Given the description of an element on the screen output the (x, y) to click on. 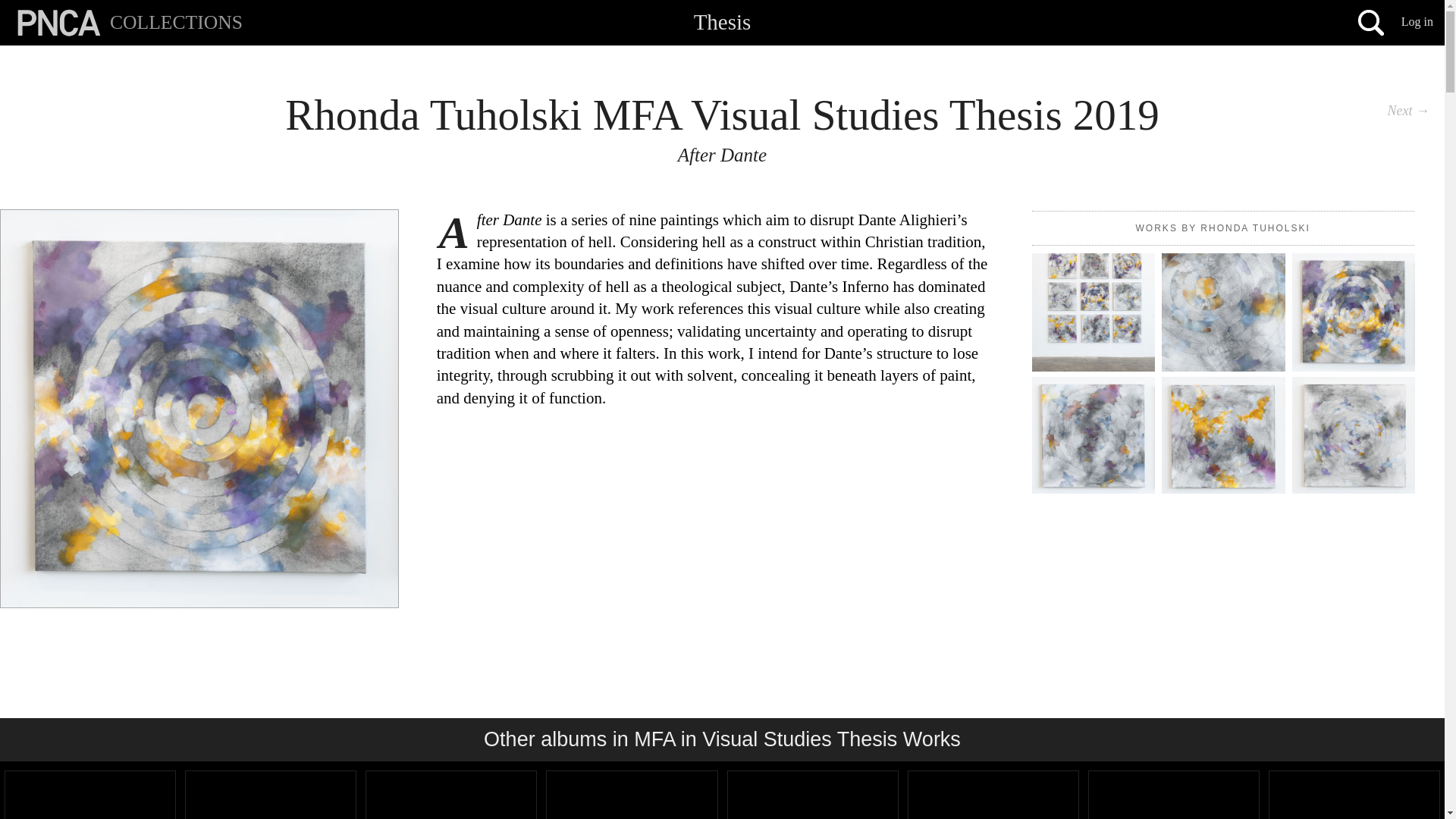
WORKS BY RHONDA TUHOLSKI (1223, 227)
Thesis (722, 21)
Log in (1416, 21)
